Given the description of an element on the screen output the (x, y) to click on. 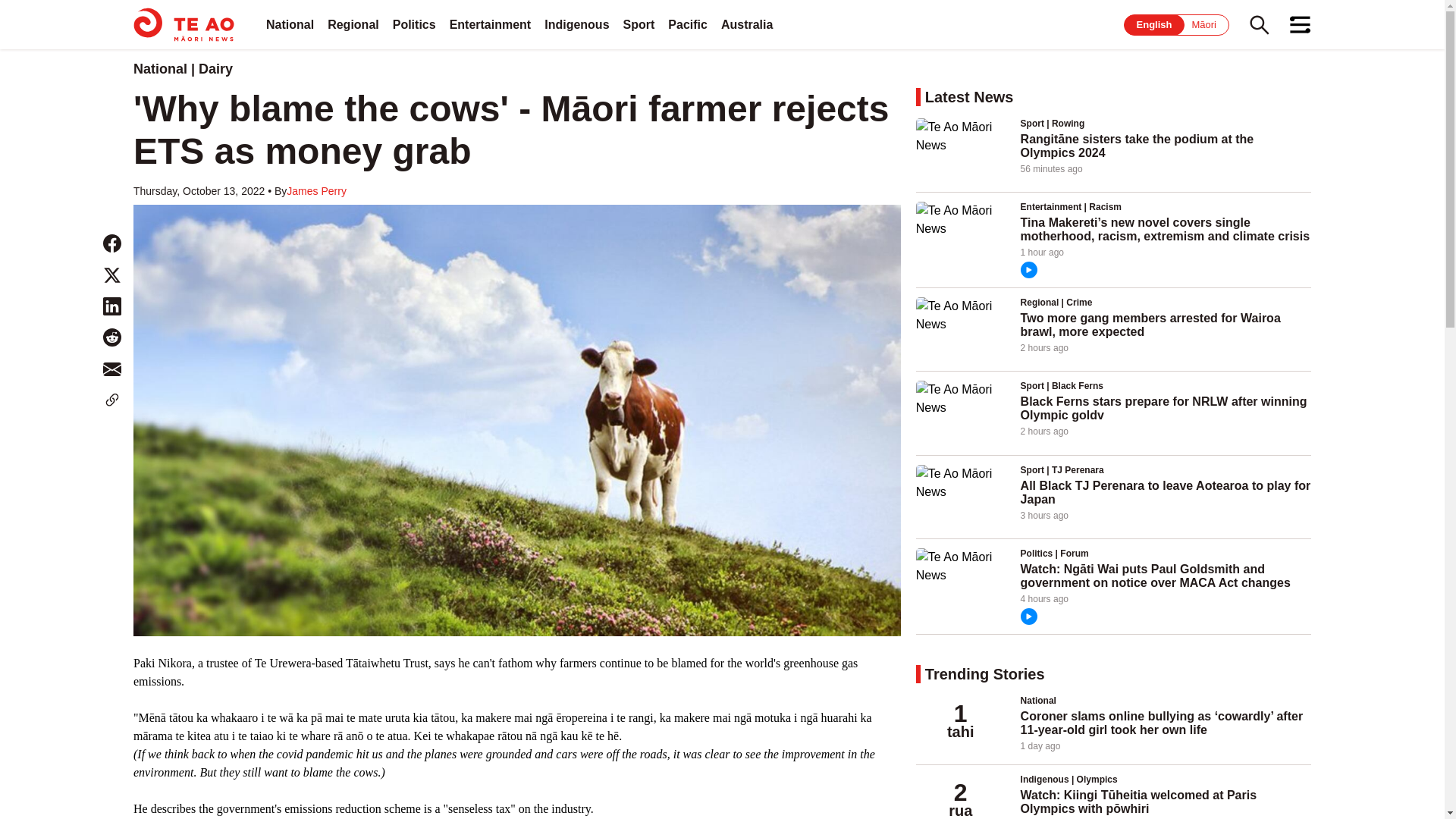
Sport (639, 24)
Indigenous (576, 24)
Politics (414, 24)
Entertainment (490, 24)
Australia (746, 24)
Pacific (687, 24)
James Perry (316, 191)
English (1154, 24)
Regional (352, 24)
Copy SocialLink (111, 399)
